Given the description of an element on the screen output the (x, y) to click on. 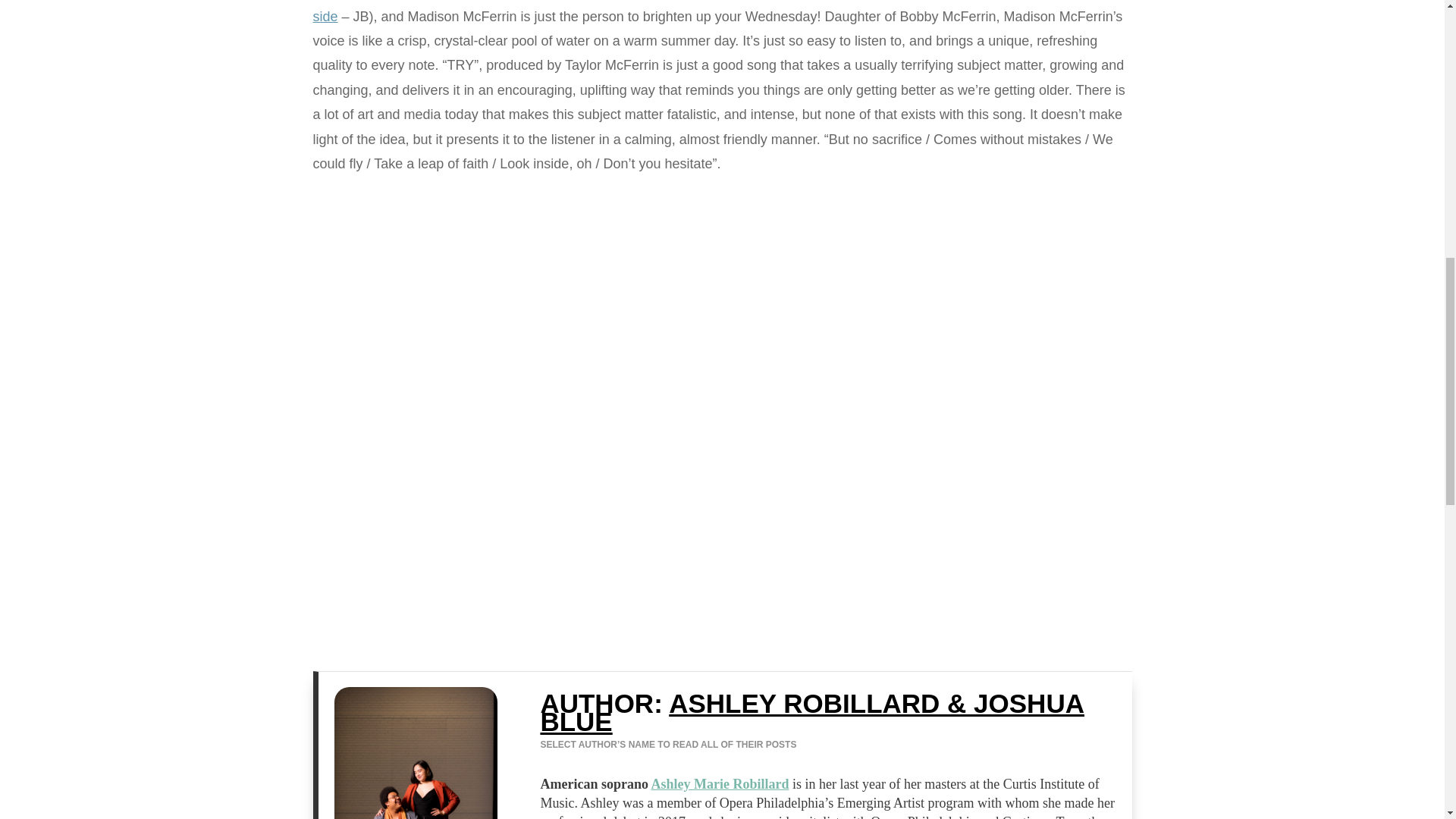
Ashley Marie Robillard (719, 783)
more intense, dark side (712, 11)
